Given the description of an element on the screen output the (x, y) to click on. 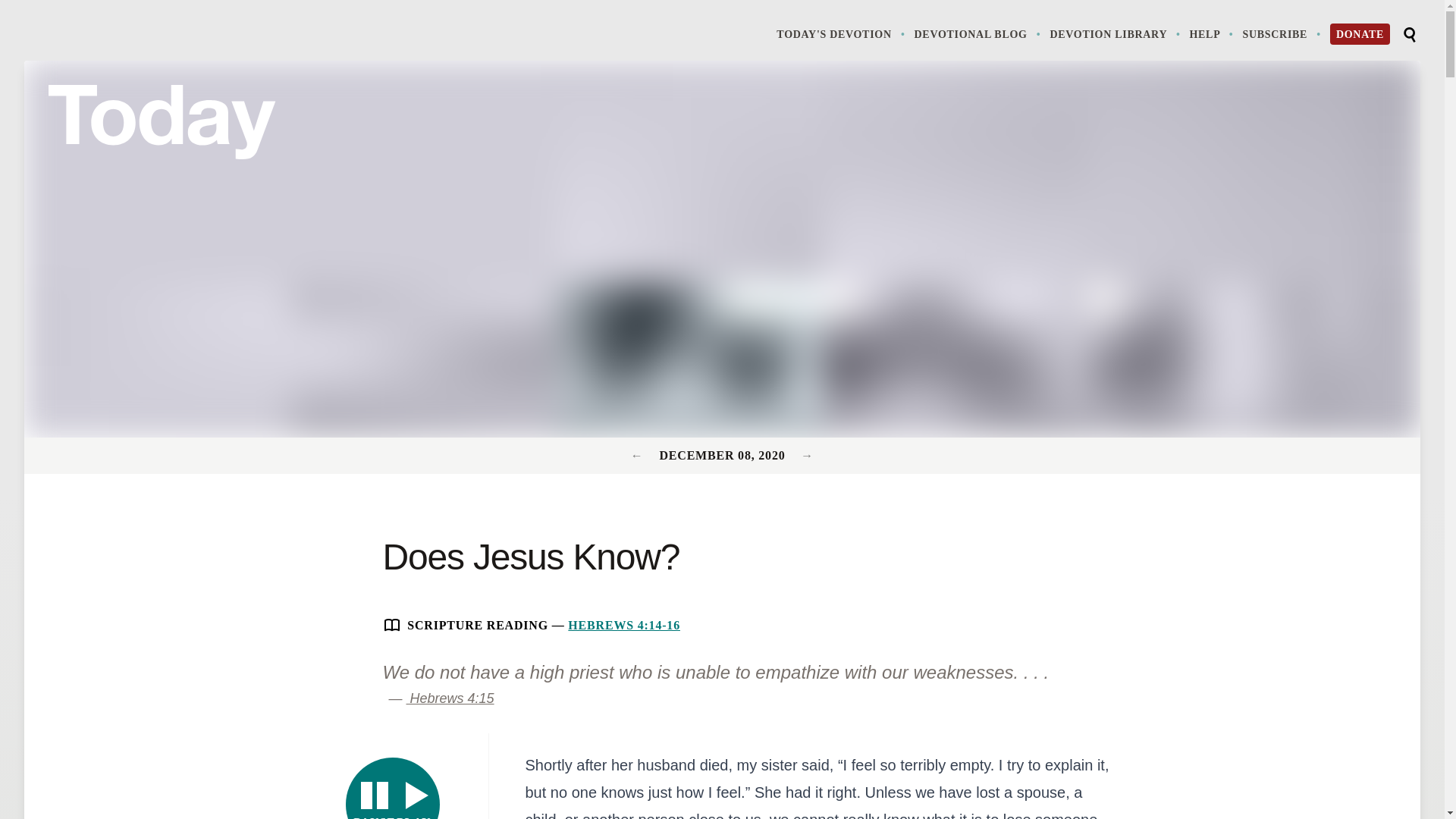
Previous Devotion: December 07, 2020 (638, 454)
TODAY'S DEVOTION (392, 788)
DEVOTIONAL BLOG (841, 34)
SUBSCRIBE (978, 34)
Previous Devotion: December 09, 2020 (1282, 34)
HELP (806, 454)
HEBREWS 4:14-16 (1212, 34)
Hebrews 4:15 (623, 625)
DONATE (450, 698)
DEVOTION LIBRARY (1360, 34)
Search (1115, 34)
